Given the description of an element on the screen output the (x, y) to click on. 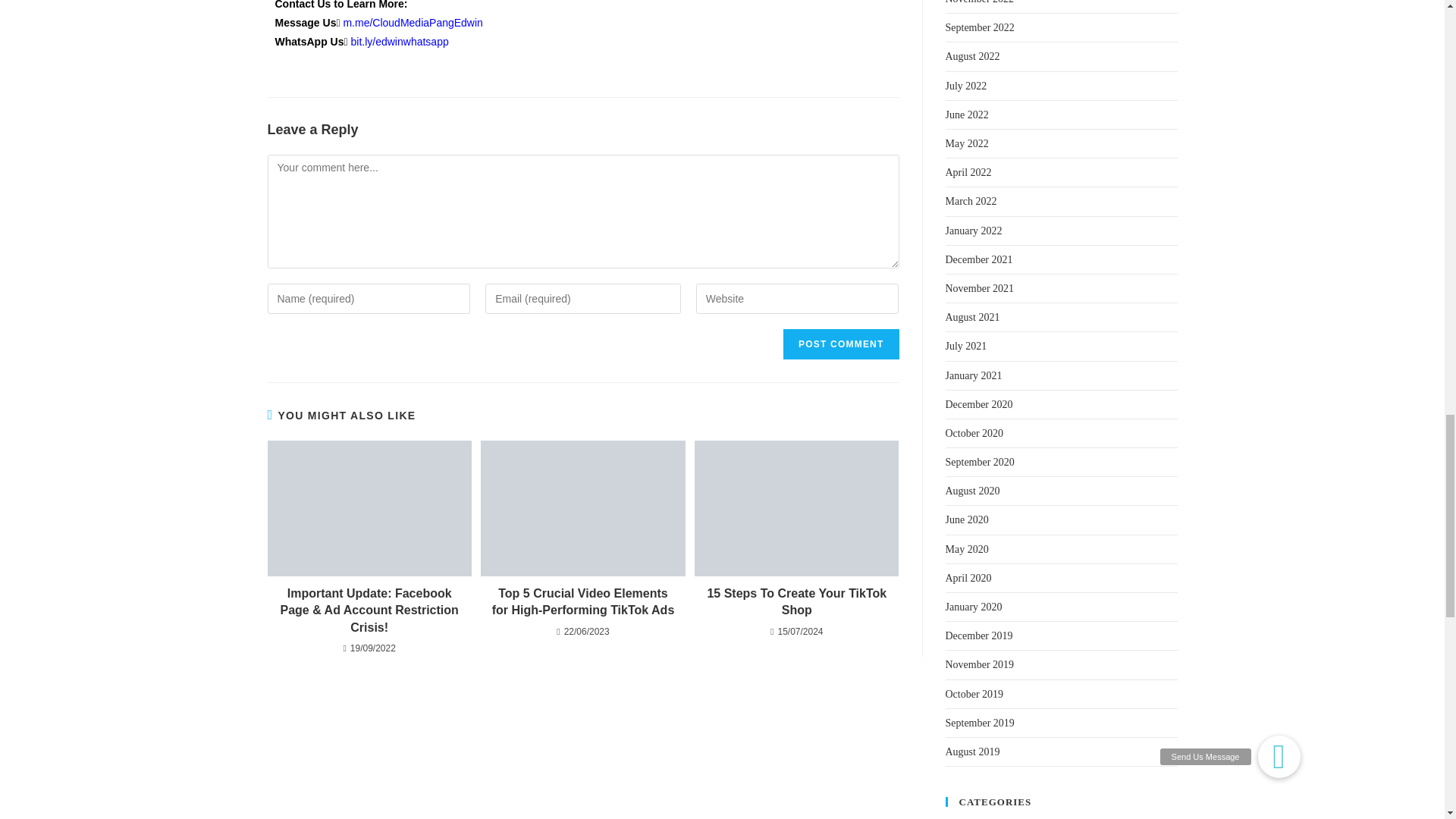
Post Comment (840, 344)
